Given the description of an element on the screen output the (x, y) to click on. 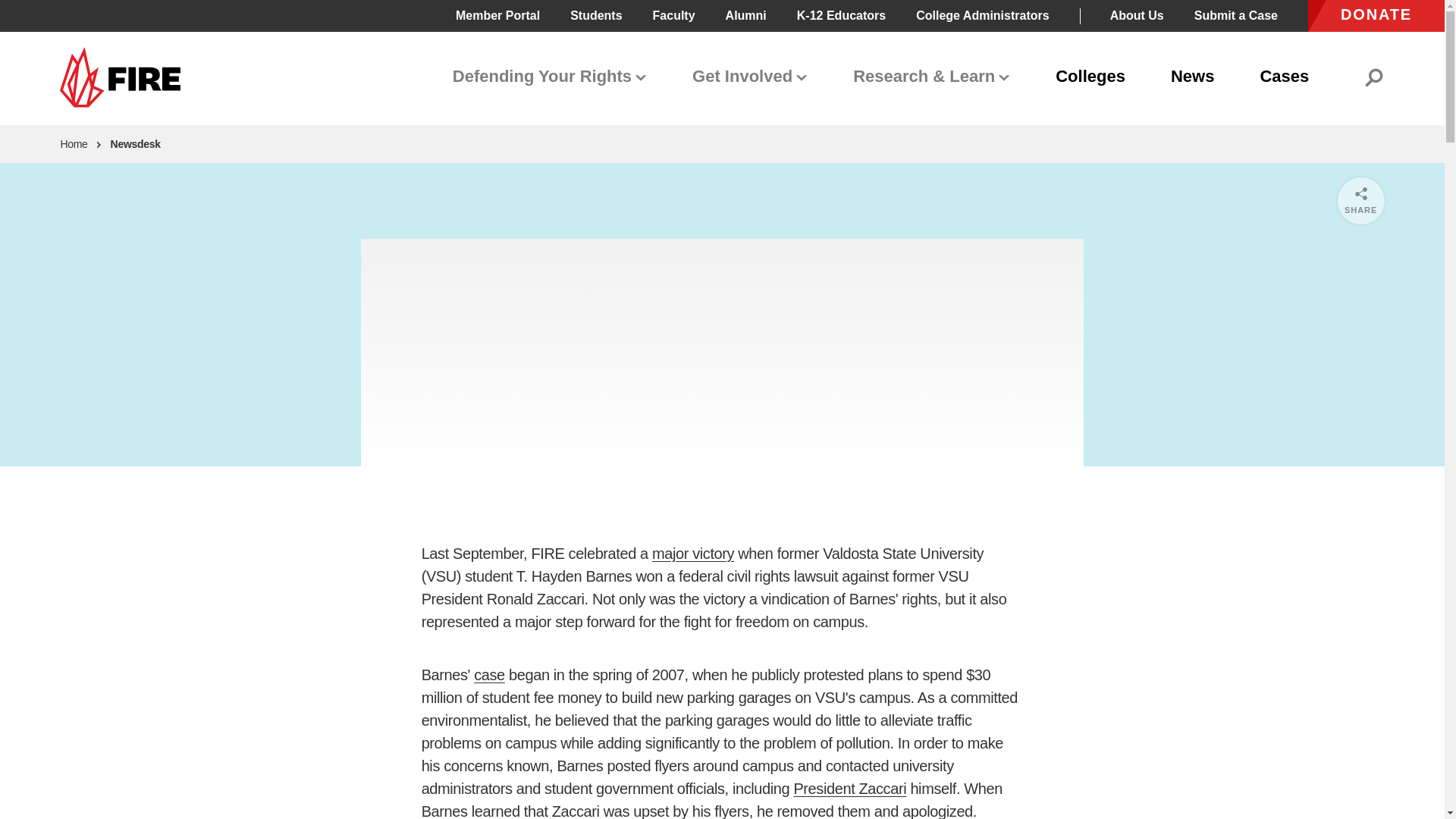
President Zaccari (849, 788)
Alumni (746, 15)
Submit a Case (1235, 15)
Students (595, 15)
About Us (1136, 15)
Faculty (673, 15)
Get Involved (749, 77)
case (489, 674)
College Administrators (981, 15)
